Given the description of an element on the screen output the (x, y) to click on. 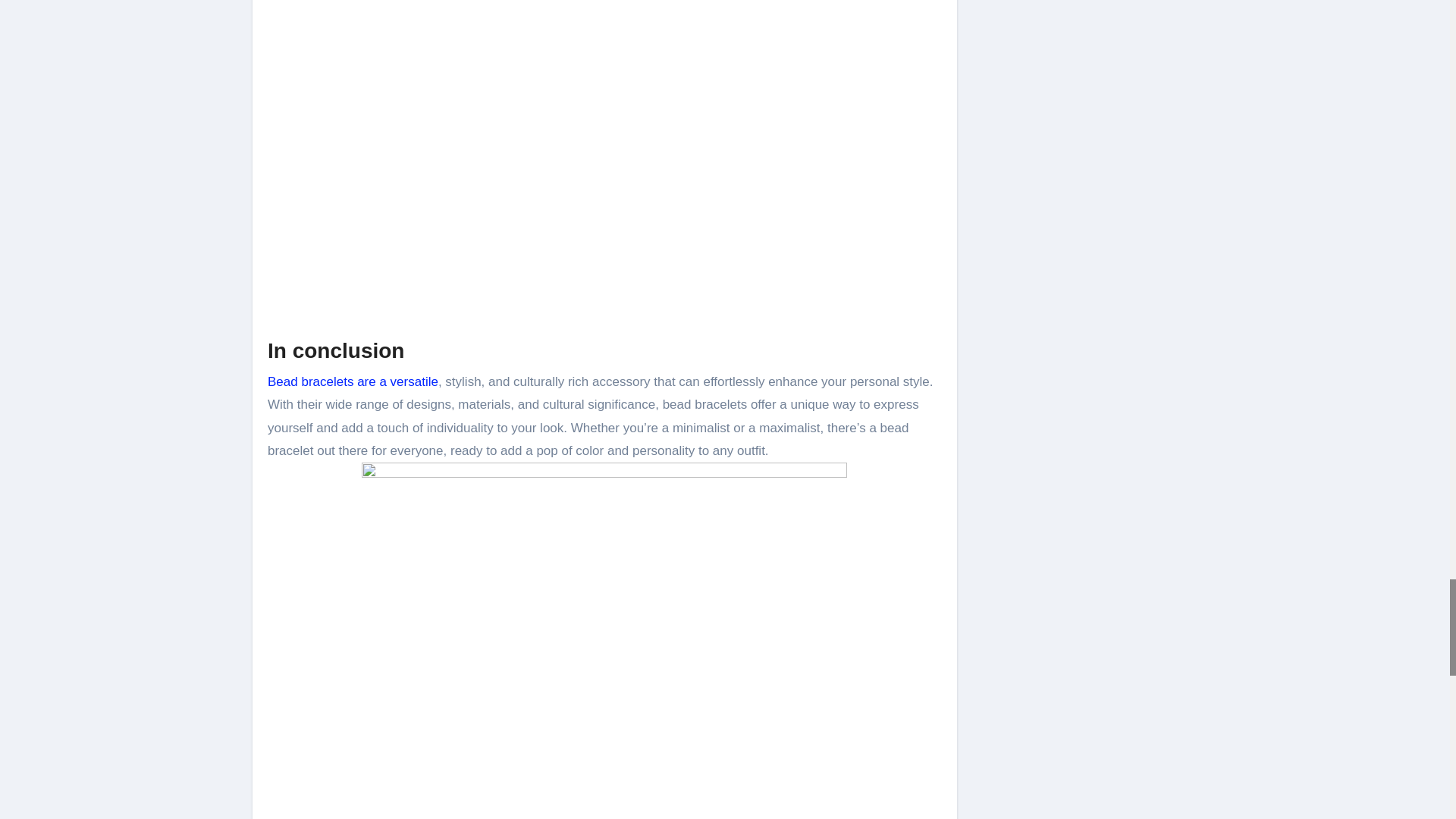
Bead bracelets are a versatile (352, 381)
